Given the description of an element on the screen output the (x, y) to click on. 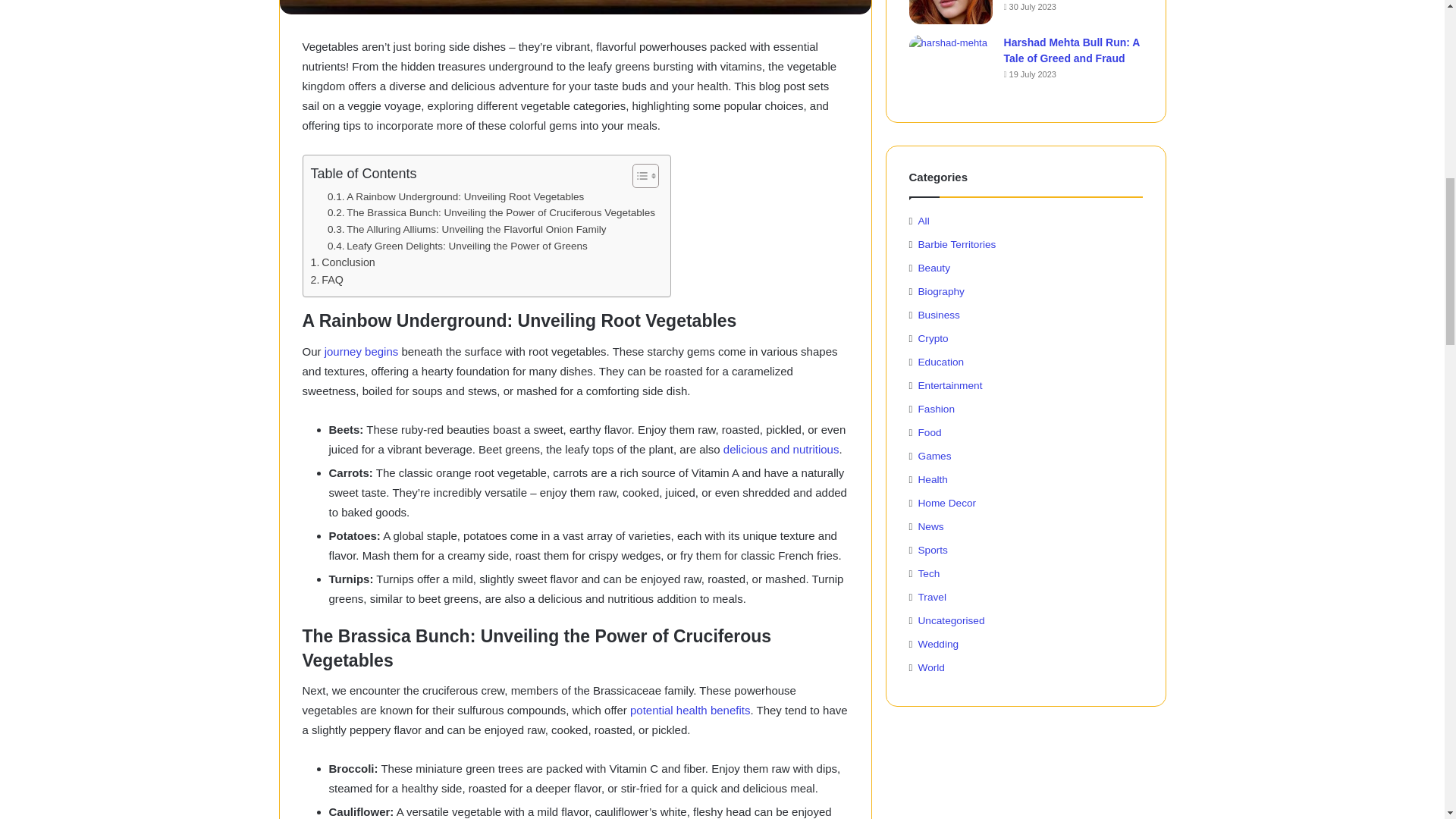
A Rainbow Underground: Unveiling Root Vegetables (455, 197)
